Given the description of an element on the screen output the (x, y) to click on. 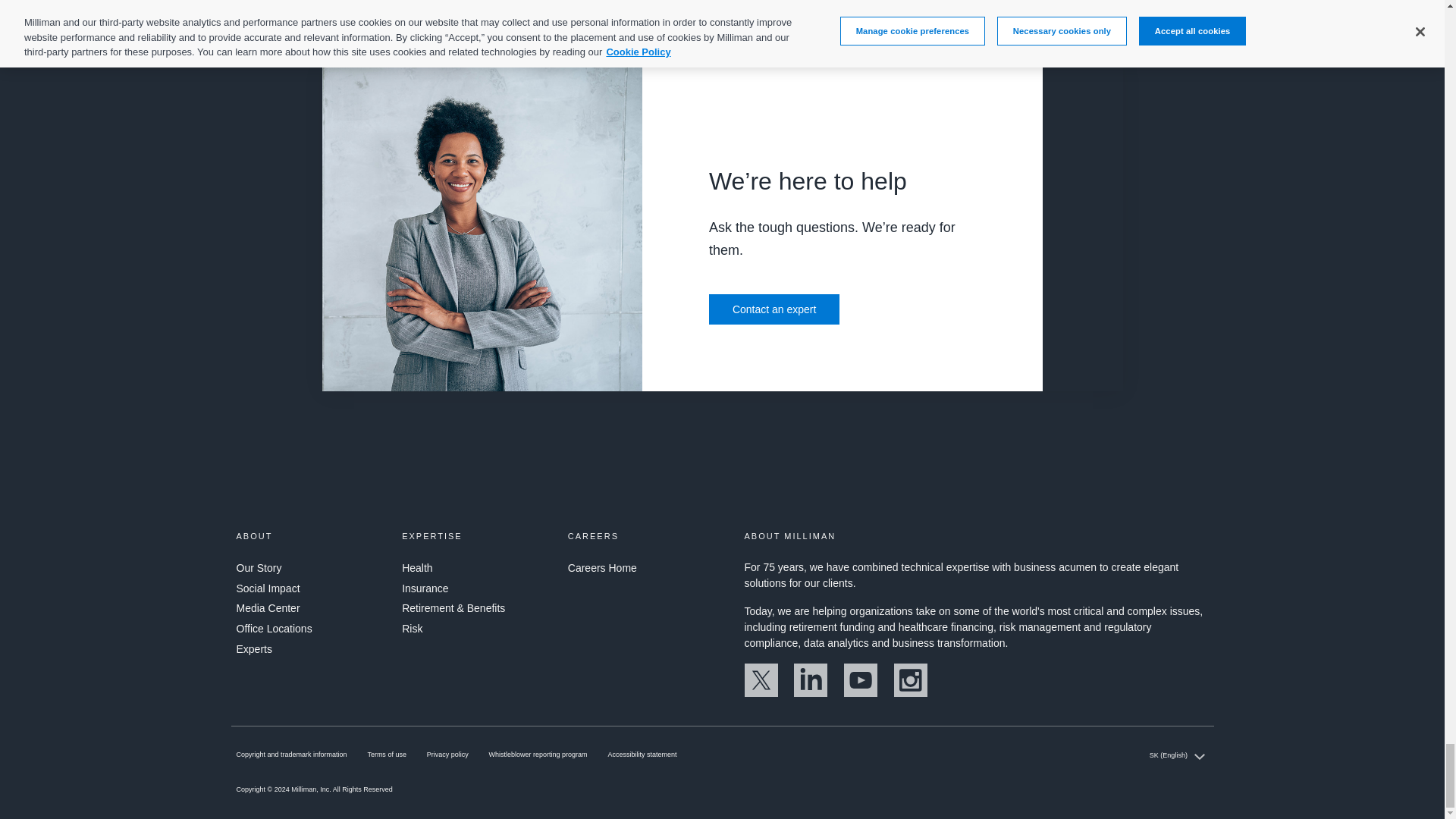
Accessibility statement (642, 754)
